Given the description of an element on the screen output the (x, y) to click on. 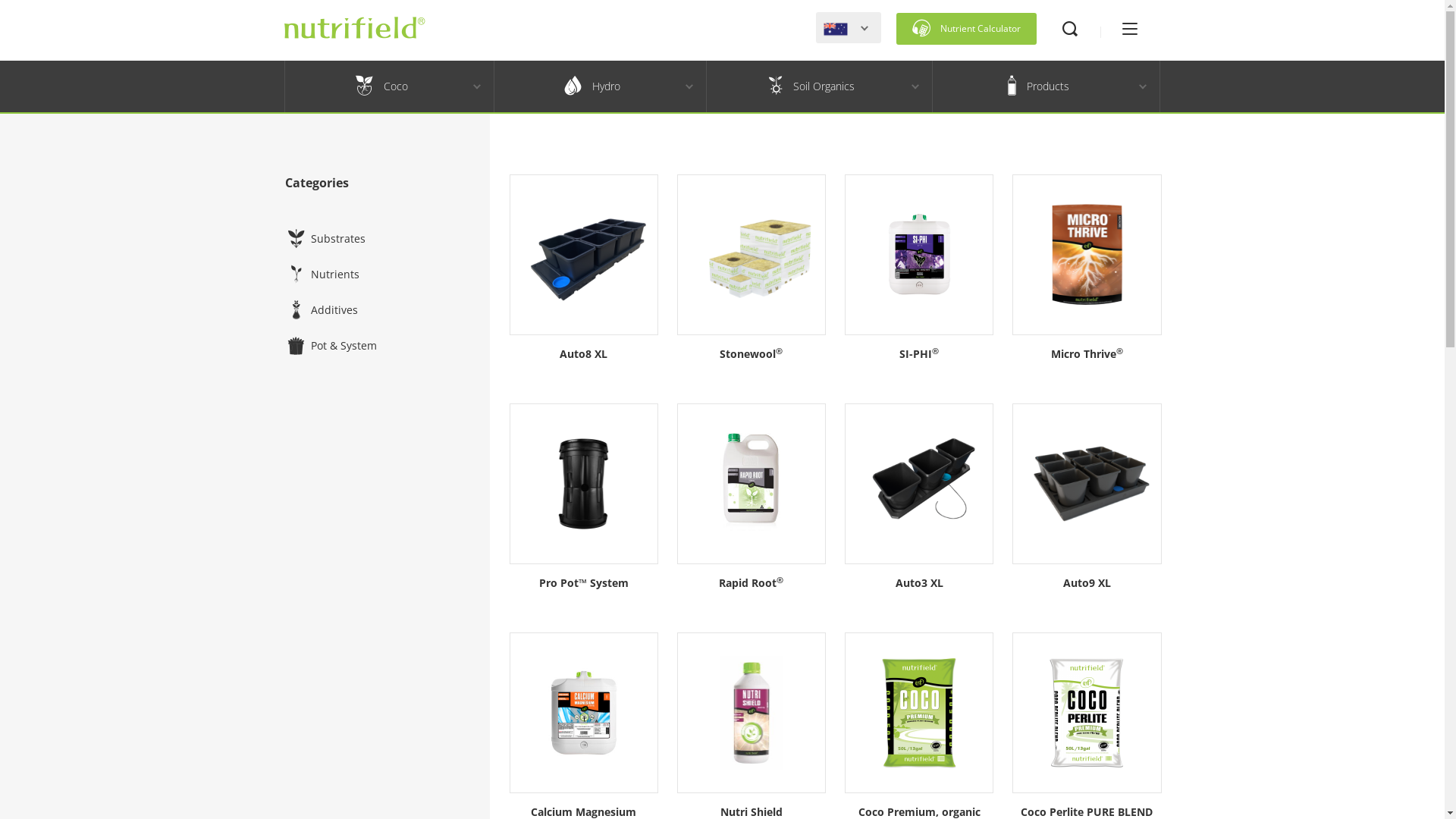
Nutrient Calculator Element type: text (966, 28)
Products Element type: text (1037, 86)
Pot & System Element type: text (330, 349)
Nutrients Element type: text (322, 277)
Substrates Element type: text (325, 242)
Auto8 XL Element type: text (583, 284)
Coco Element type: text (381, 86)
Soil Organics Element type: text (811, 86)
Additives Element type: text (321, 313)
Auto3 XL Element type: text (918, 513)
Hydro Element type: text (592, 86)
Auto9 XL Element type: text (1086, 513)
